Given the description of an element on the screen output the (x, y) to click on. 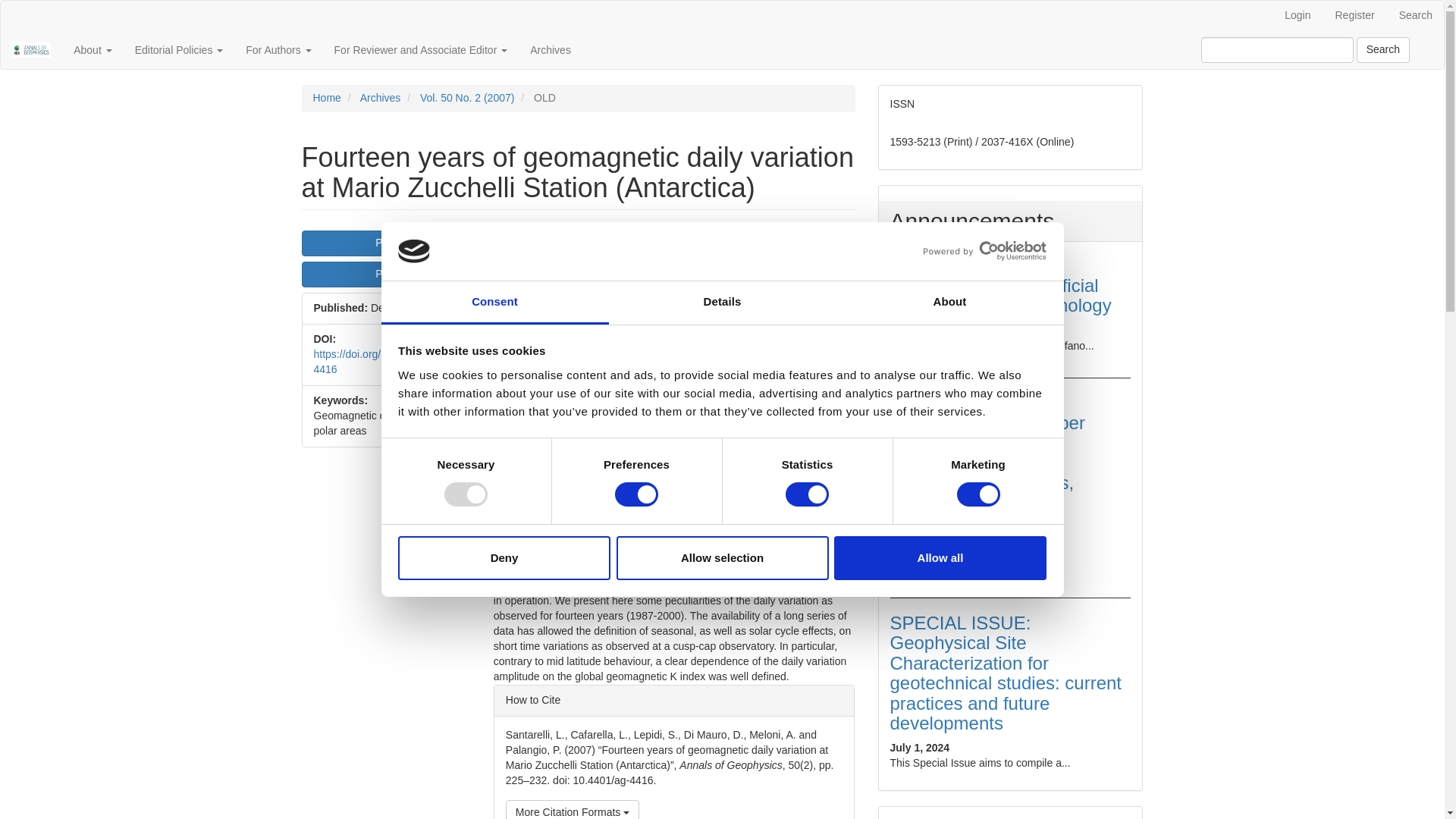
Login (1297, 15)
Search (1415, 15)
Allow all (940, 557)
About (948, 302)
Deny (503, 557)
Register (1354, 15)
Details (721, 302)
Consent (494, 302)
Allow selection (721, 557)
